Given the description of an element on the screen output the (x, y) to click on. 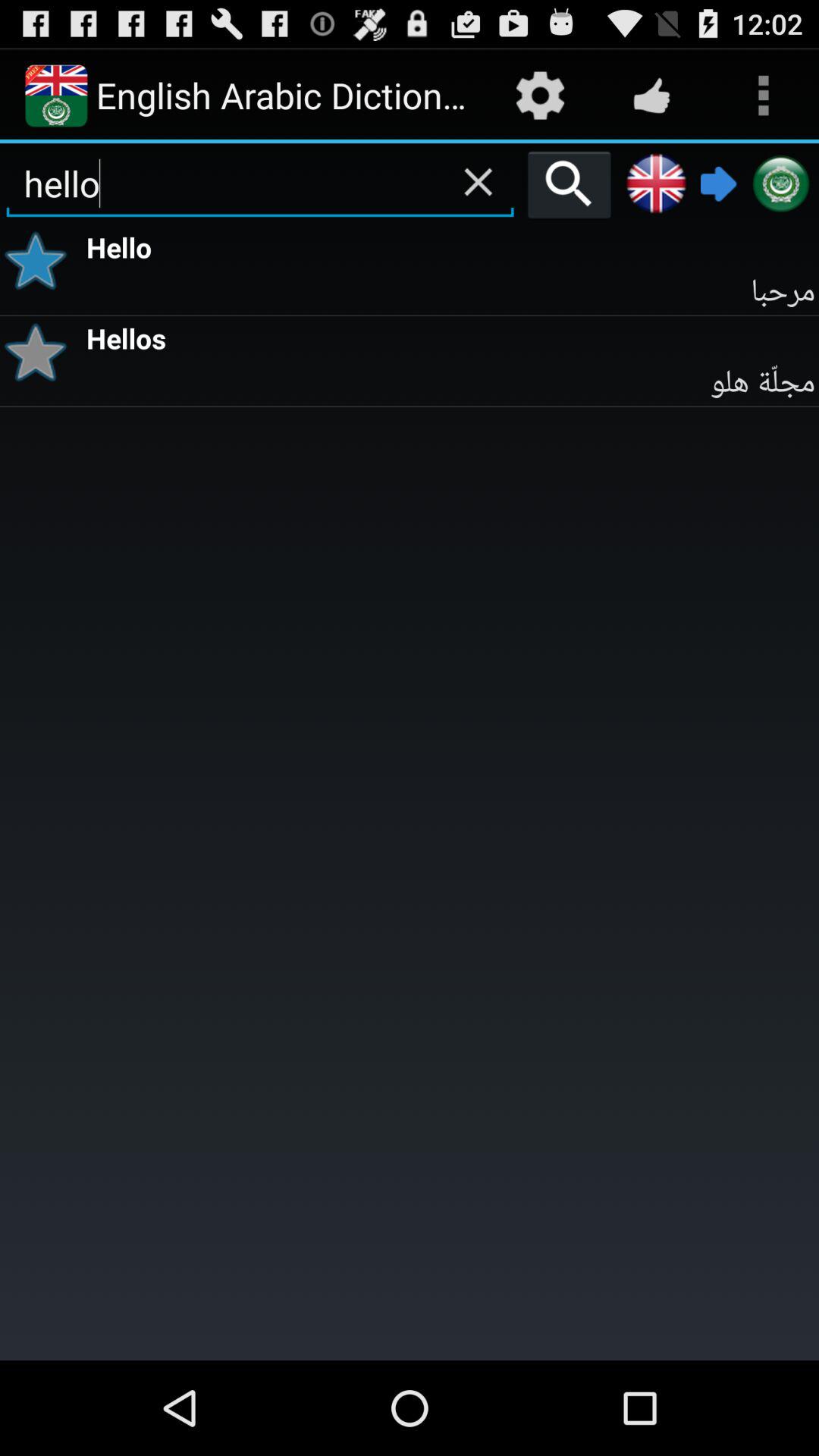
bookmark (41, 351)
